Given the description of an element on the screen output the (x, y) to click on. 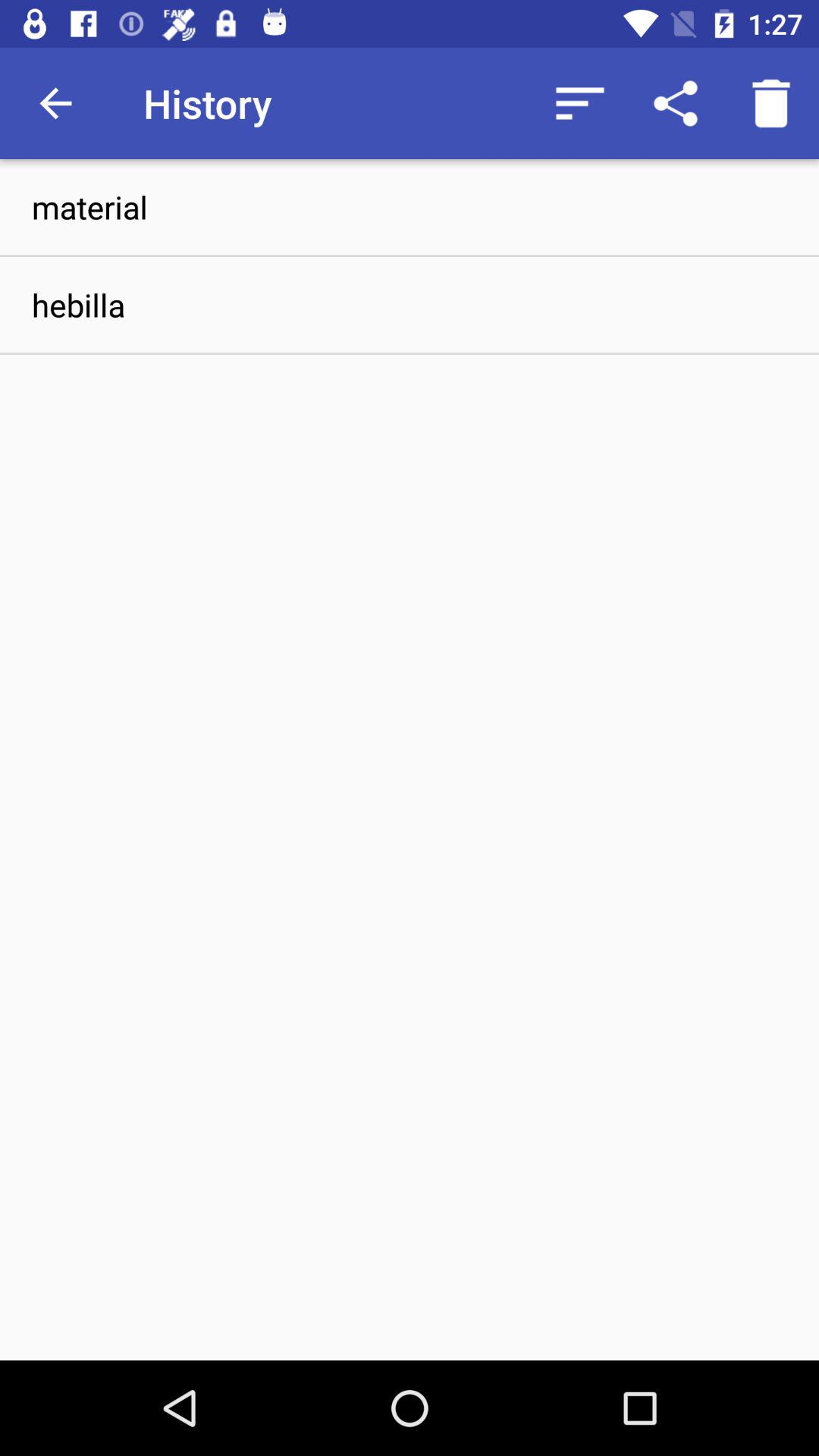
select item above the material (771, 103)
